Given the description of an element on the screen output the (x, y) to click on. 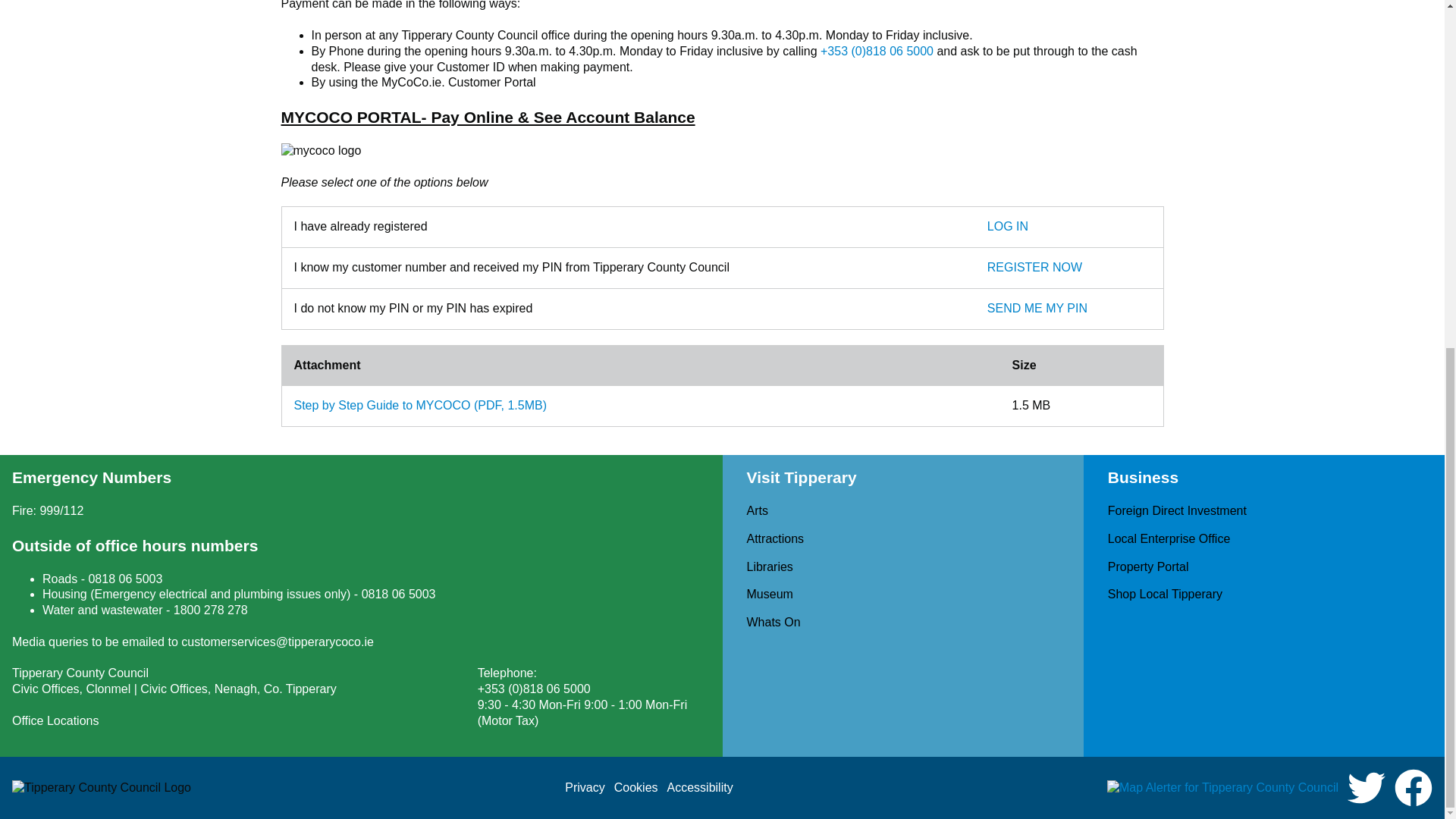
Local Enterprise Office (1169, 538)
SEND ME MY PIN (1037, 308)
Accessibility (699, 787)
Whats On (772, 621)
Arts (756, 510)
Follow us on Map Alerter (1222, 788)
Libraries (768, 566)
Museum (768, 594)
Cookies (636, 787)
Foreign Direct Investment (1177, 510)
Privacy (584, 787)
Follow us on facebook (1413, 787)
LOG IN (1007, 226)
REGISTER NOW (1034, 267)
Office Locations (55, 720)
